Given the description of an element on the screen output the (x, y) to click on. 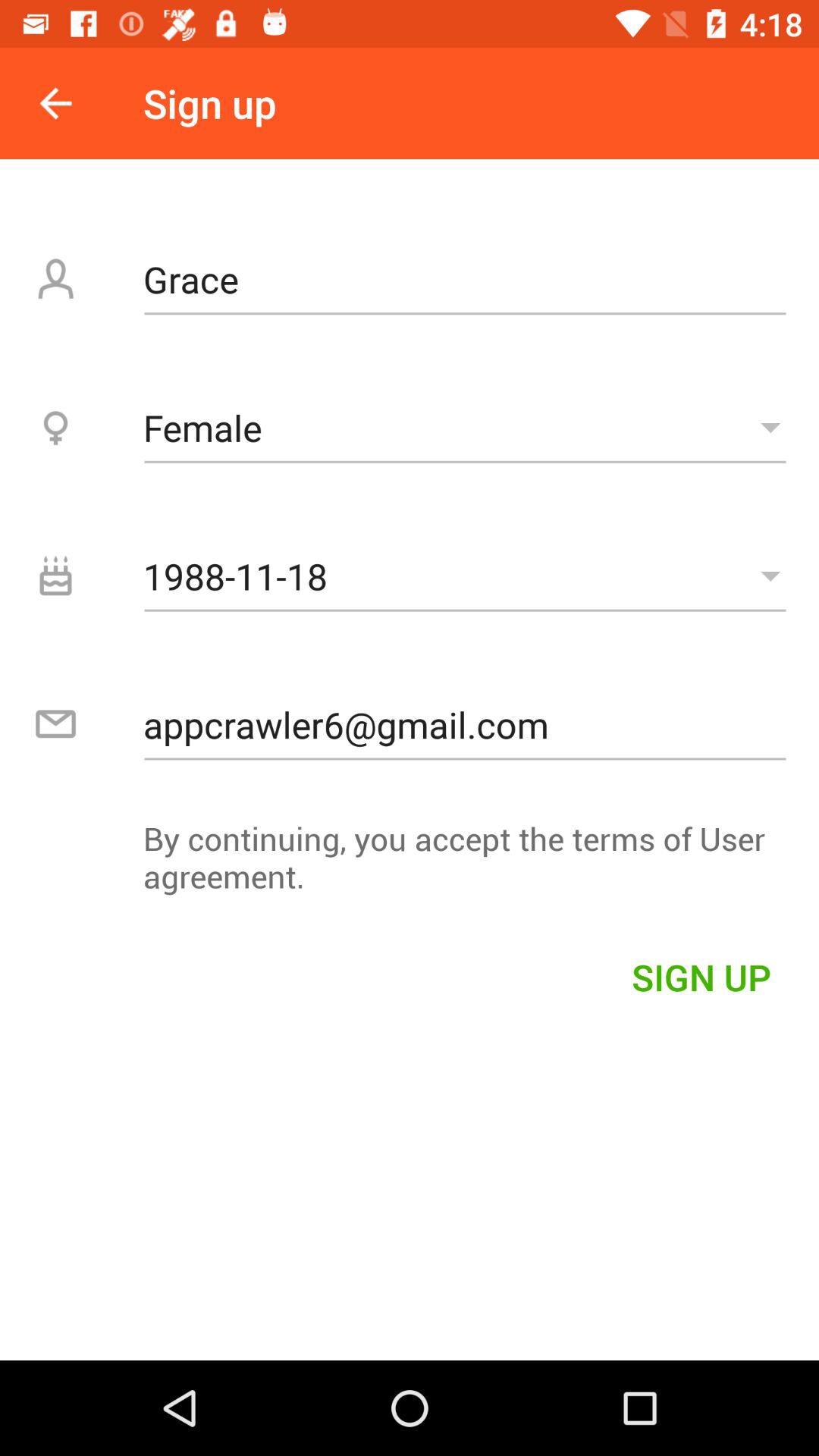
tap the by continuing you icon (409, 864)
